Given the description of an element on the screen output the (x, y) to click on. 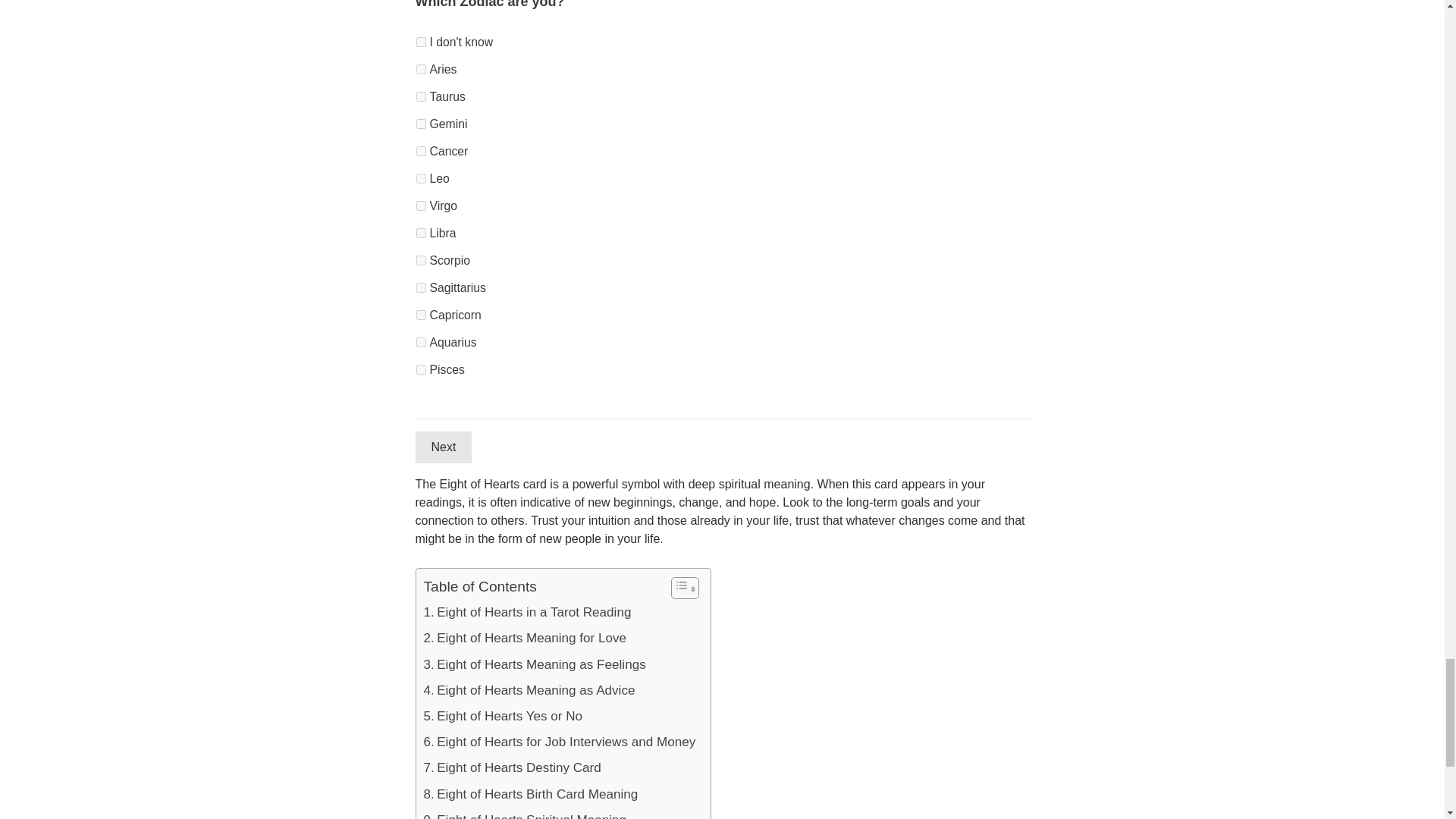
Eight of Hearts Meaning for Love (524, 638)
Scorpio (419, 260)
Gemini (419, 123)
Next (442, 447)
Eight of Hearts Meaning as Feelings (534, 664)
Eight of Hearts in a Tarot Reading (526, 612)
Virgo (419, 205)
Eight of Hearts Meaning as Advice (528, 690)
Libra (419, 233)
Eight of Hearts Spiritual Meaning (524, 813)
